Given the description of an element on the screen output the (x, y) to click on. 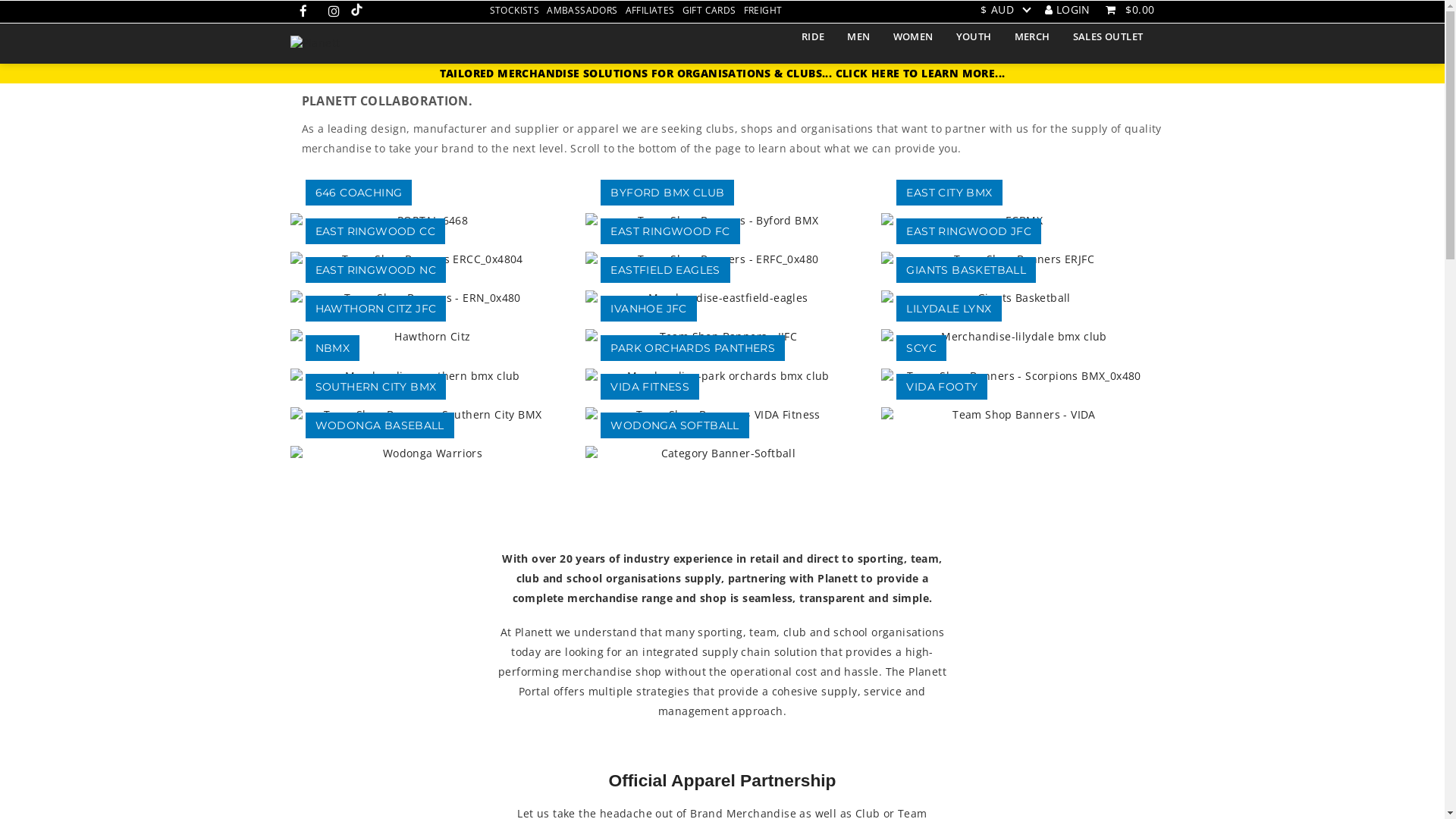
Ivanhoe JFC Element type: hover (721, 336)
PARK ORCHARDS PANTHERS Element type: text (692, 347)
WODONGA SOFTBALL Element type: text (674, 425)
SCYC Element type: text (921, 347)
VIDA FITNESS Element type: text (649, 386)
Giants Basketball Element type: hover (1017, 297)
LILYDALE LYNX Element type: text (948, 308)
MEN Element type: text (858, 36)
MERCH Element type: text (1032, 36)
East Ringwood NC Element type: hover (425, 297)
EAST RINGWOOD FC Element type: text (669, 231)
Eastfield Eagles Element type: hover (721, 297)
EAST RINGWOOD JFC Element type: text (968, 231)
Wodonga Baseball Element type: hover (425, 453)
VIDA FOOTY Element type: text (941, 386)
HAWTHORN CITZ JFC Element type: text (374, 308)
Byford BMX Club Element type: hover (721, 219)
Park Orchards Panthers Element type: hover (721, 374)
NBMX Element type: text (331, 347)
East Ringwood JFC Element type: hover (1017, 258)
Hawthorn Citz JFC Element type: hover (425, 336)
VIDA Fitness Element type: hover (721, 414)
SALES OUTLET Element type: text (1107, 36)
LOGIN Element type: text (1067, 9)
AMBASSADORS Element type: text (581, 10)
SOUTHERN CITY BMX Element type: text (374, 386)
Planett Element type: hover (314, 41)
EAST RINGWOOD NC Element type: text (374, 269)
AFFILIATES Element type: text (649, 10)
EAST CITY BMX Element type: text (948, 191)
WOMEN Element type: text (912, 36)
GIANTS BASKETBALL Element type: text (965, 269)
Wodonga Softball Element type: hover (721, 453)
YOUTH Element type: text (973, 36)
Lilydale Lynx Element type: hover (1017, 336)
EAST RINGWOOD CC Element type: text (374, 231)
IVANHOE JFC Element type: text (648, 308)
BYFORD BMX CLUB Element type: text (667, 191)
646 Coaching Element type: hover (425, 219)
East Ringwood CC Element type: hover (425, 258)
East Ringwood FC Element type: hover (721, 258)
East City BMX Element type: hover (1017, 219)
FREIGHT Element type: text (763, 10)
GIFT CARDS Element type: text (709, 10)
WODONGA BASEBALL Element type: text (378, 425)
646 COACHING Element type: text (357, 191)
EASTFIELD EAGLES Element type: text (664, 269)
NBMX Element type: hover (425, 374)
STOCKISTS Element type: text (513, 10)
VIDA Footy Element type: hover (1017, 414)
SCYC Element type: hover (1017, 374)
Southern City BMX Element type: hover (425, 414)
RIDE Element type: text (813, 36)
